Given the description of an element on the screen output the (x, y) to click on. 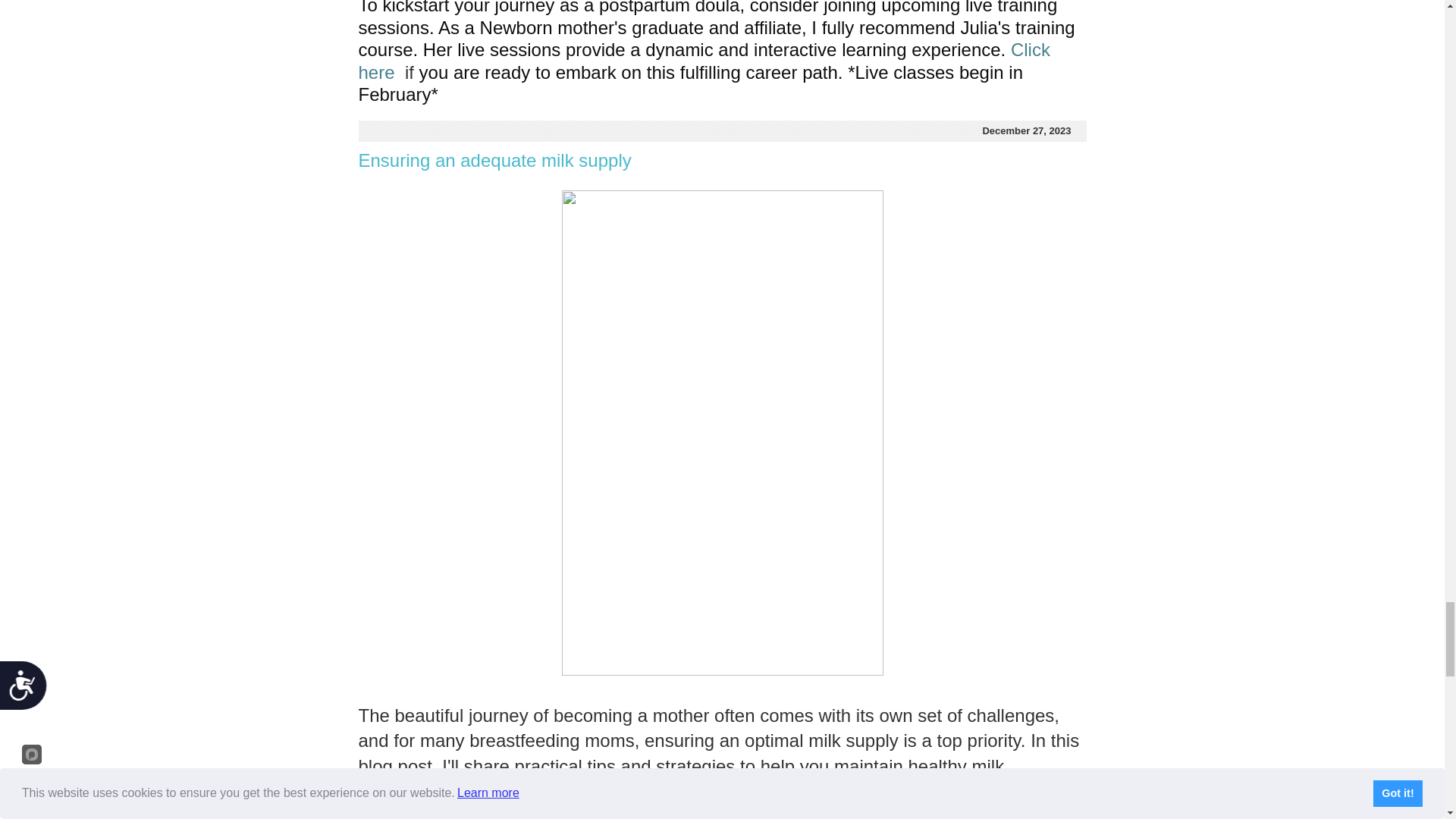
Ensuring an adequate milk supply (494, 159)
Click here  (706, 60)
